Given the description of an element on the screen output the (x, y) to click on. 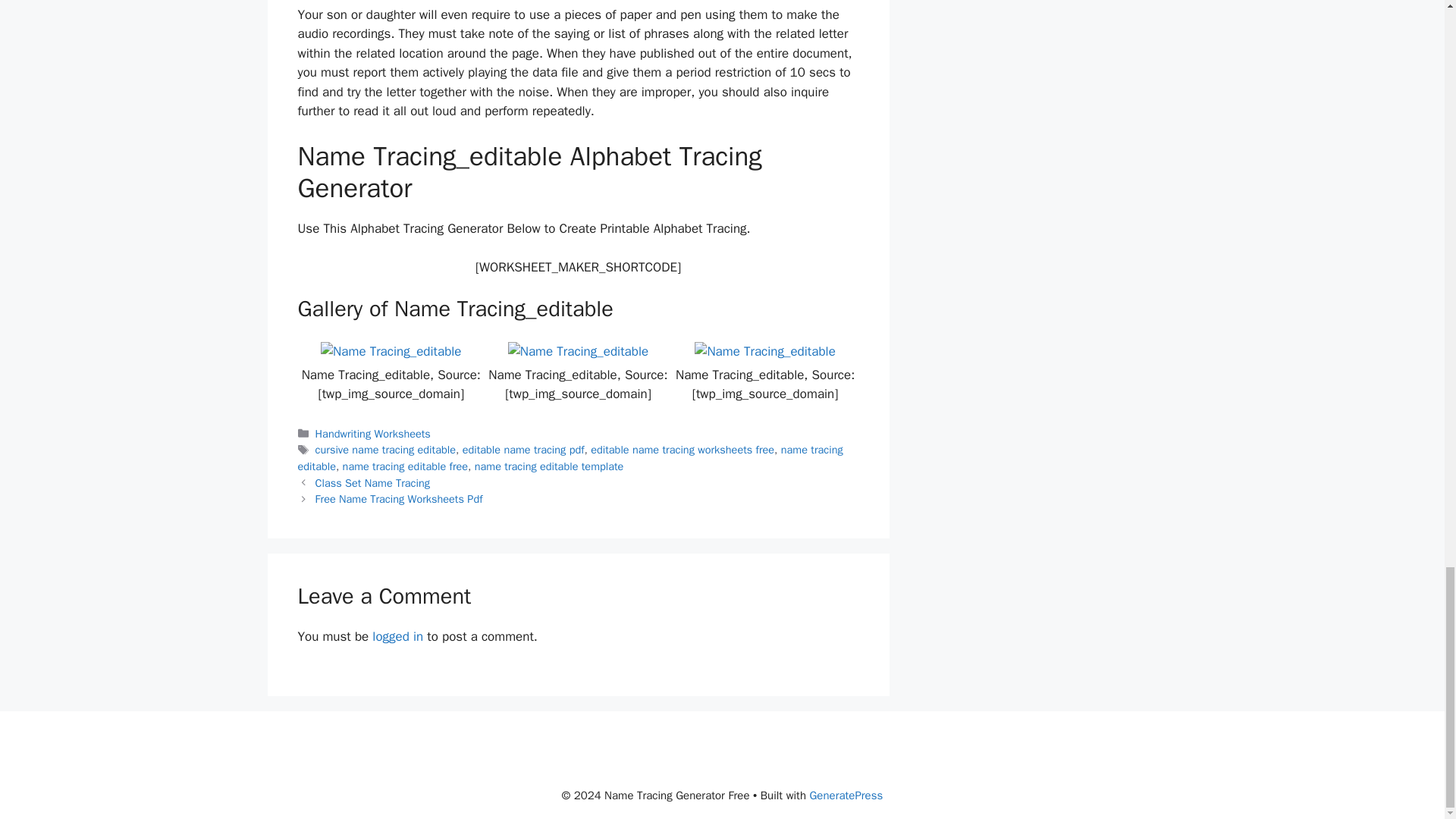
logged in (397, 636)
Handwriting Worksheets (372, 433)
name tracing editable template (549, 466)
cursive name tracing editable (385, 449)
Class Set Name Tracing (372, 482)
editable name tracing worksheets free (682, 449)
GeneratePress (845, 795)
name tracing editable free (404, 466)
Free Name Tracing Worksheets Pdf (399, 499)
editable name tracing pdf (524, 449)
